Given the description of an element on the screen output the (x, y) to click on. 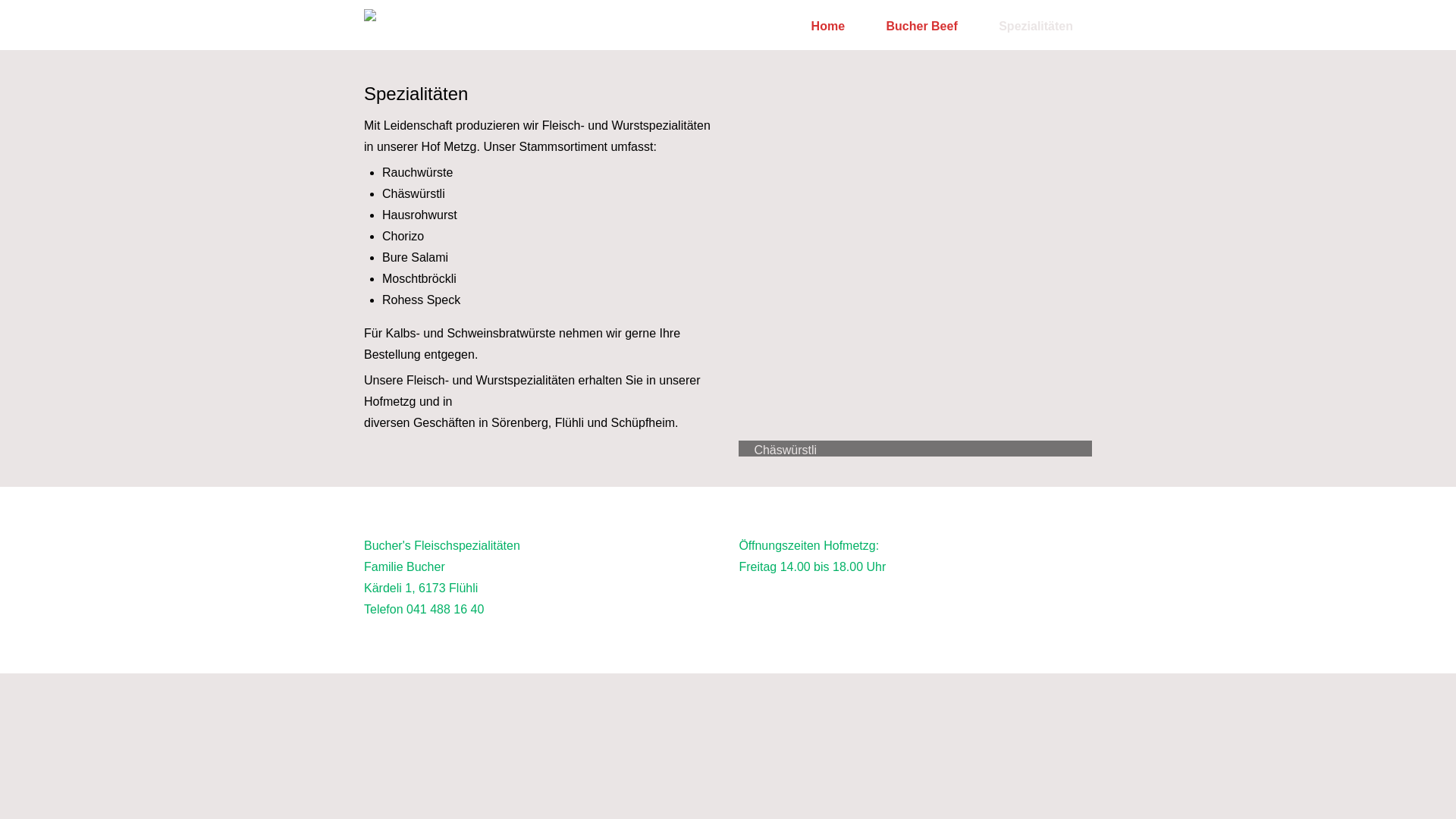
Home Element type: text (827, 26)
Bucher Beef Element type: text (920, 26)
